Given the description of an element on the screen output the (x, y) to click on. 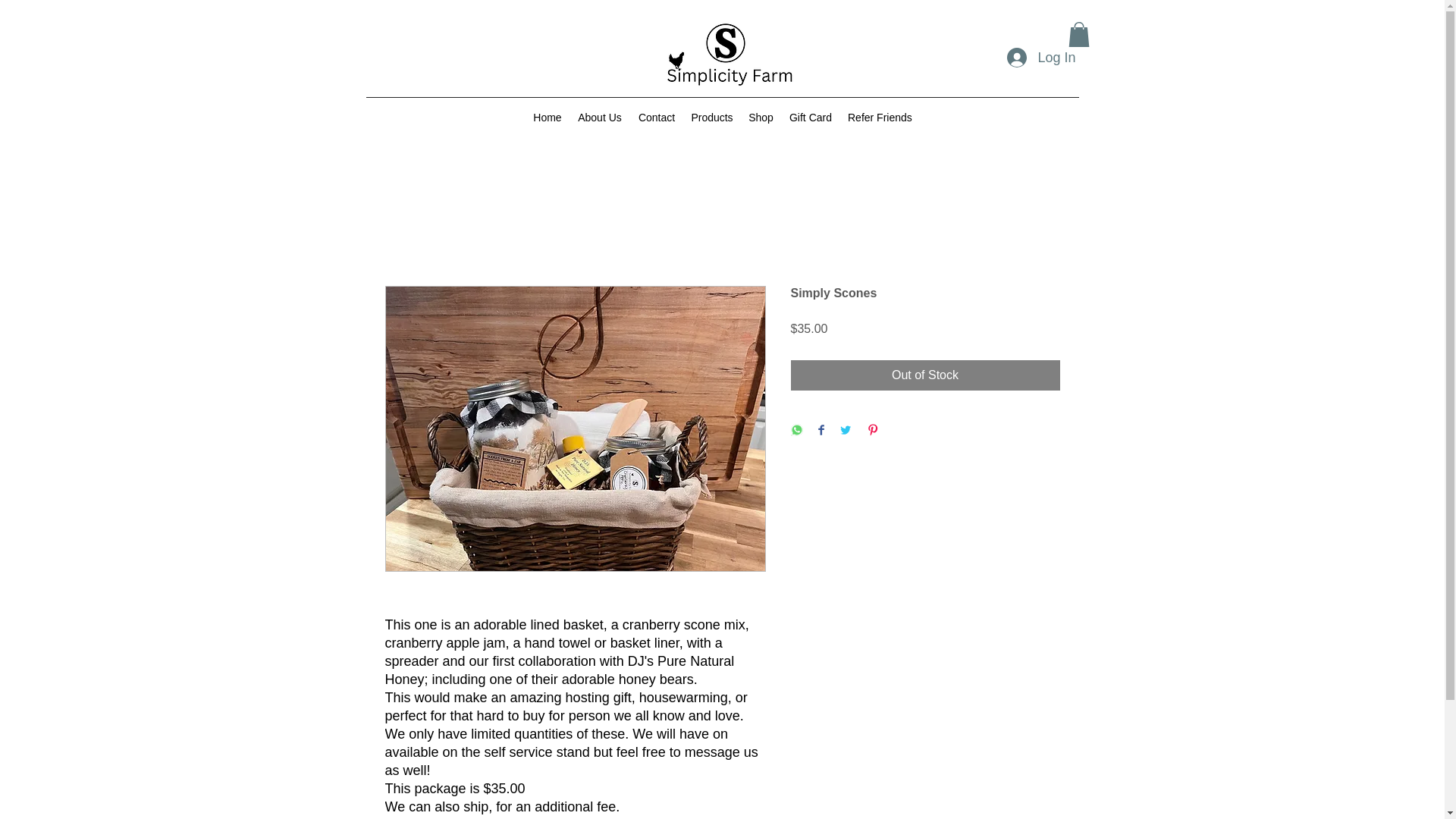
Contact (656, 117)
Products (711, 117)
Gift Card (810, 117)
Log In (1040, 58)
Home (547, 117)
Refer Friends (879, 117)
Out of Stock (924, 375)
Shop (760, 117)
About Us (599, 117)
